Given the description of an element on the screen output the (x, y) to click on. 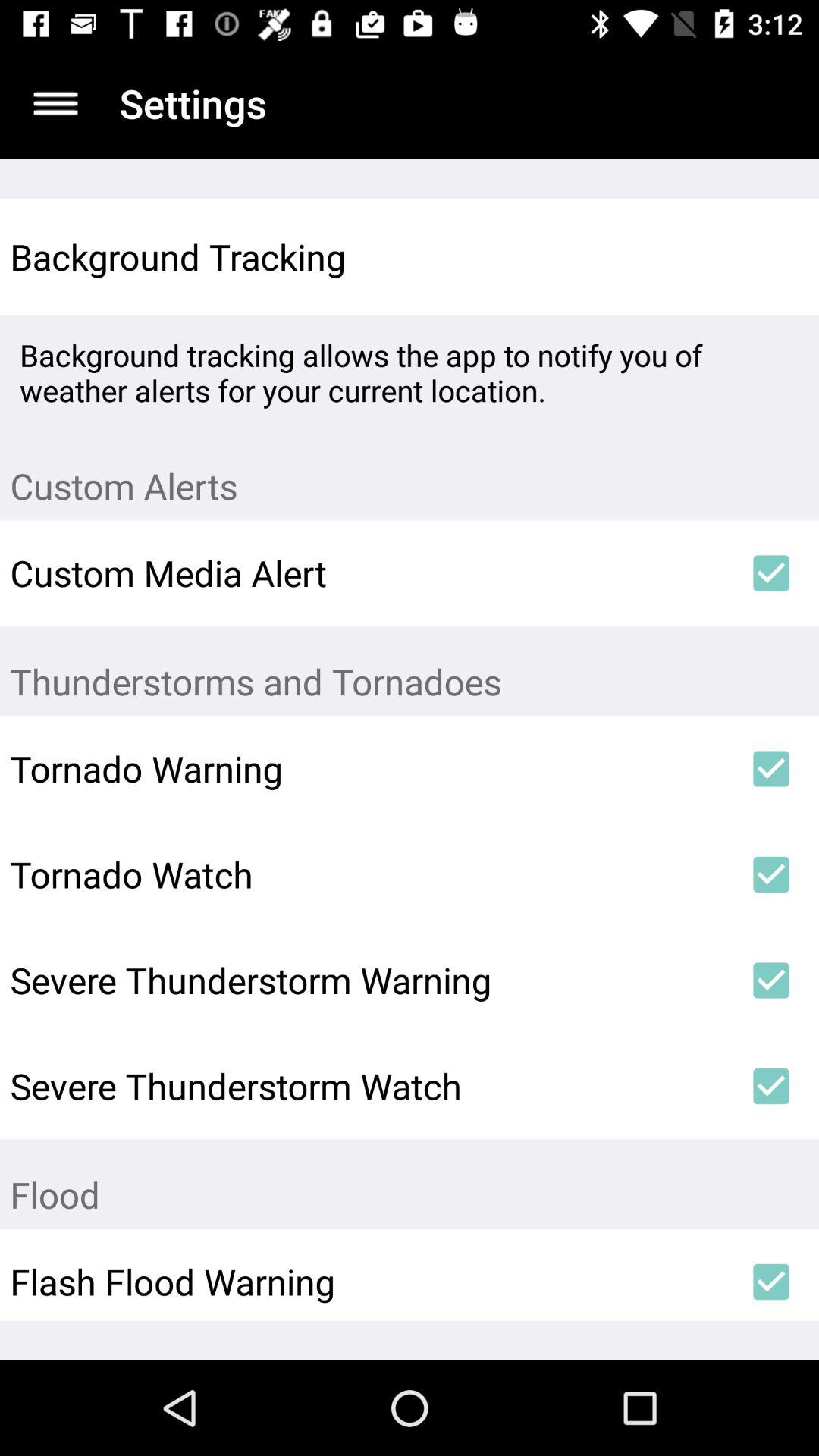
choose item above the background tracking (55, 103)
